Given the description of an element on the screen output the (x, y) to click on. 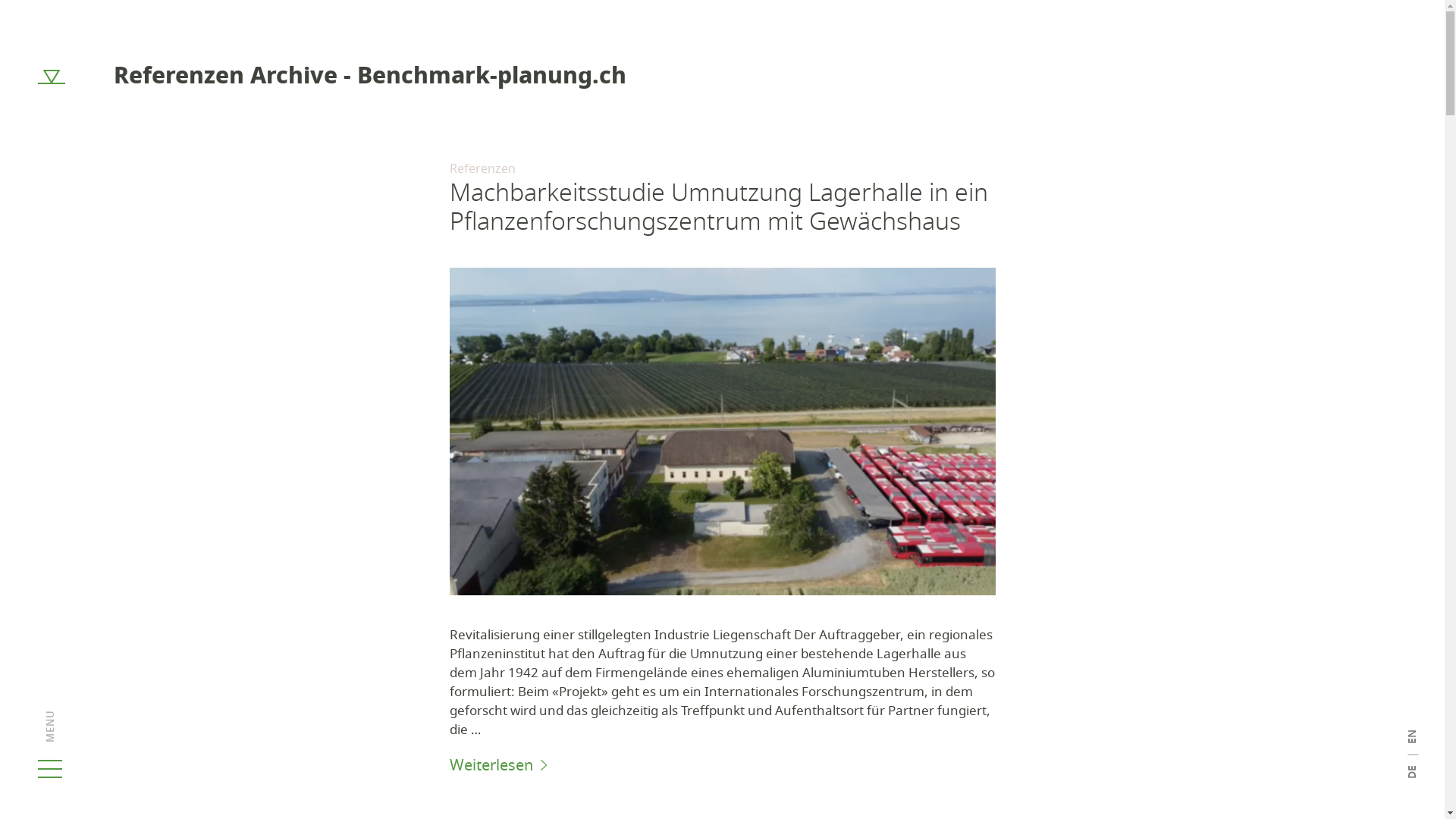
EN Element type: text (1411, 737)
DE Element type: text (1411, 773)
Weiterlesen Element type: text (721, 765)
Referenzen Element type: text (481, 169)
